Given the description of an element on the screen output the (x, y) to click on. 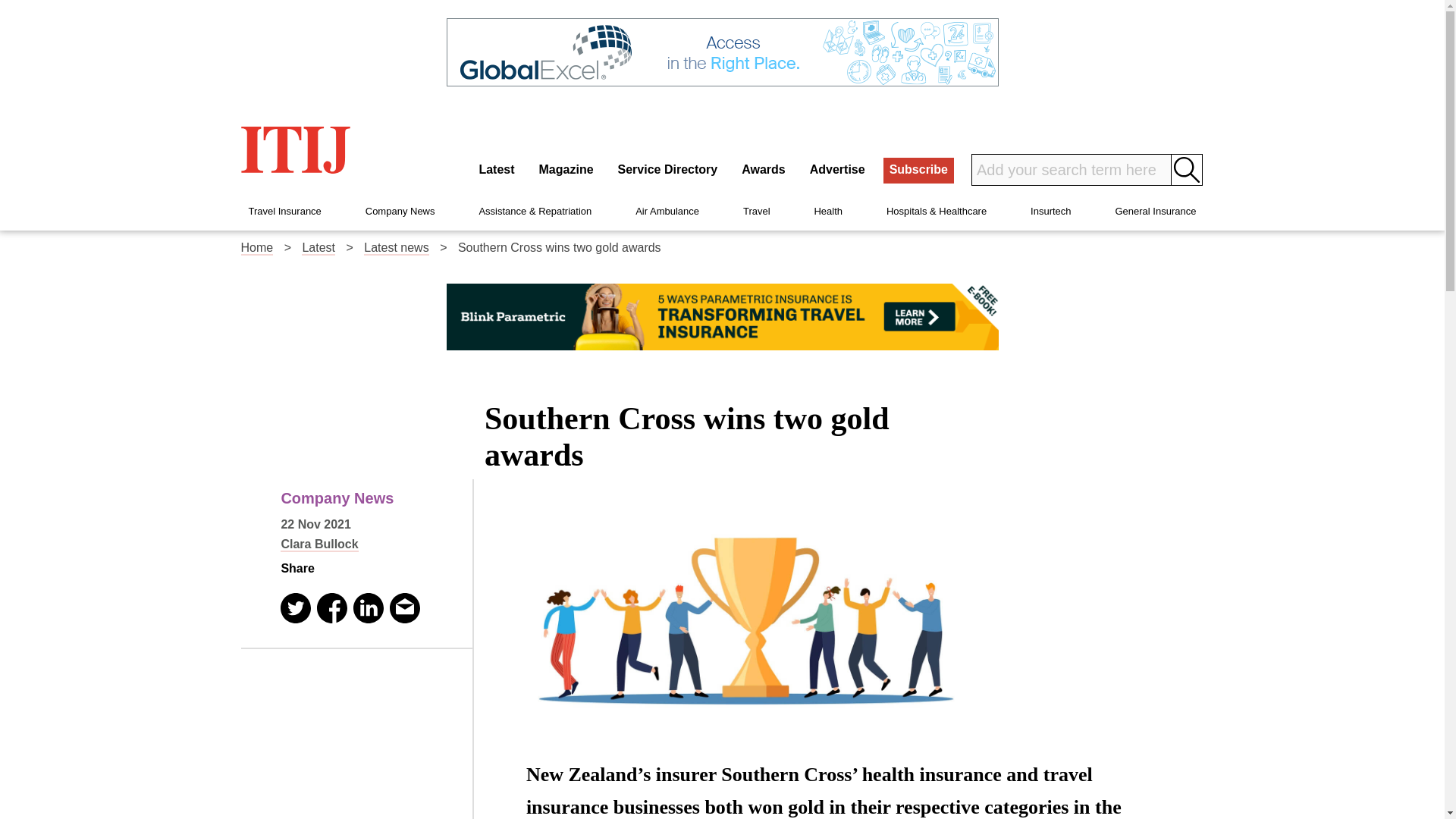
Subscribe (918, 170)
Health (828, 211)
Search (1187, 169)
Send by email (405, 607)
Share on Facebook (332, 607)
Service Directory (667, 170)
Travel (756, 211)
Share on LinkedIn (368, 607)
Advertise (836, 170)
Company News (400, 211)
Home (257, 247)
Latest (317, 247)
Share on Twitter (296, 607)
ITIJ (295, 149)
Latest news (396, 247)
